Given the description of an element on the screen output the (x, y) to click on. 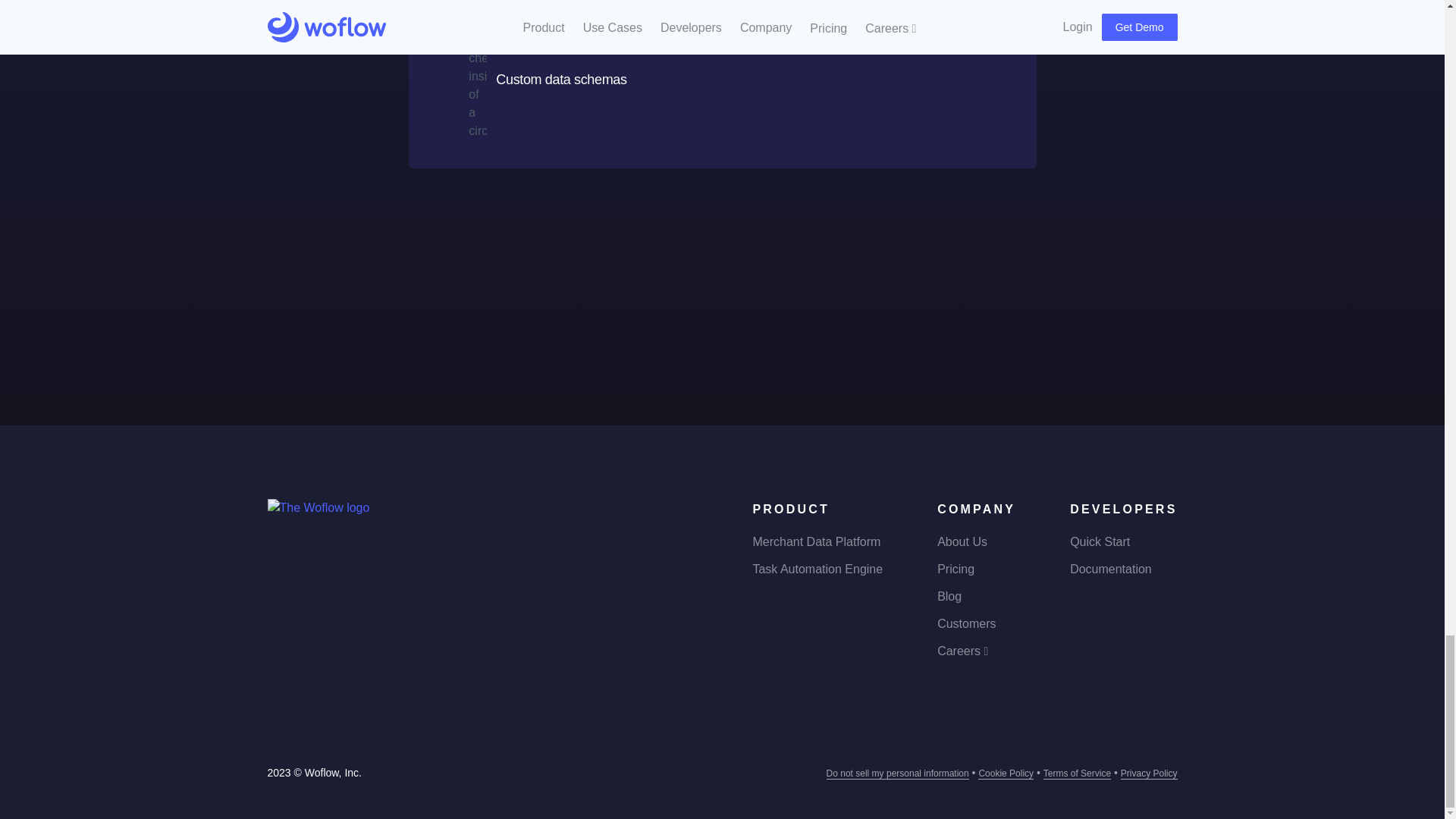
Cookie Policy (1005, 773)
Task Automation Engine (817, 568)
Documentation (1110, 568)
Customers (966, 623)
Pricing (955, 568)
Quick Start (1099, 541)
Privacy Policy (1149, 773)
Terms of Service (1076, 773)
Blog (948, 595)
About Us (962, 541)
